Given the description of an element on the screen output the (x, y) to click on. 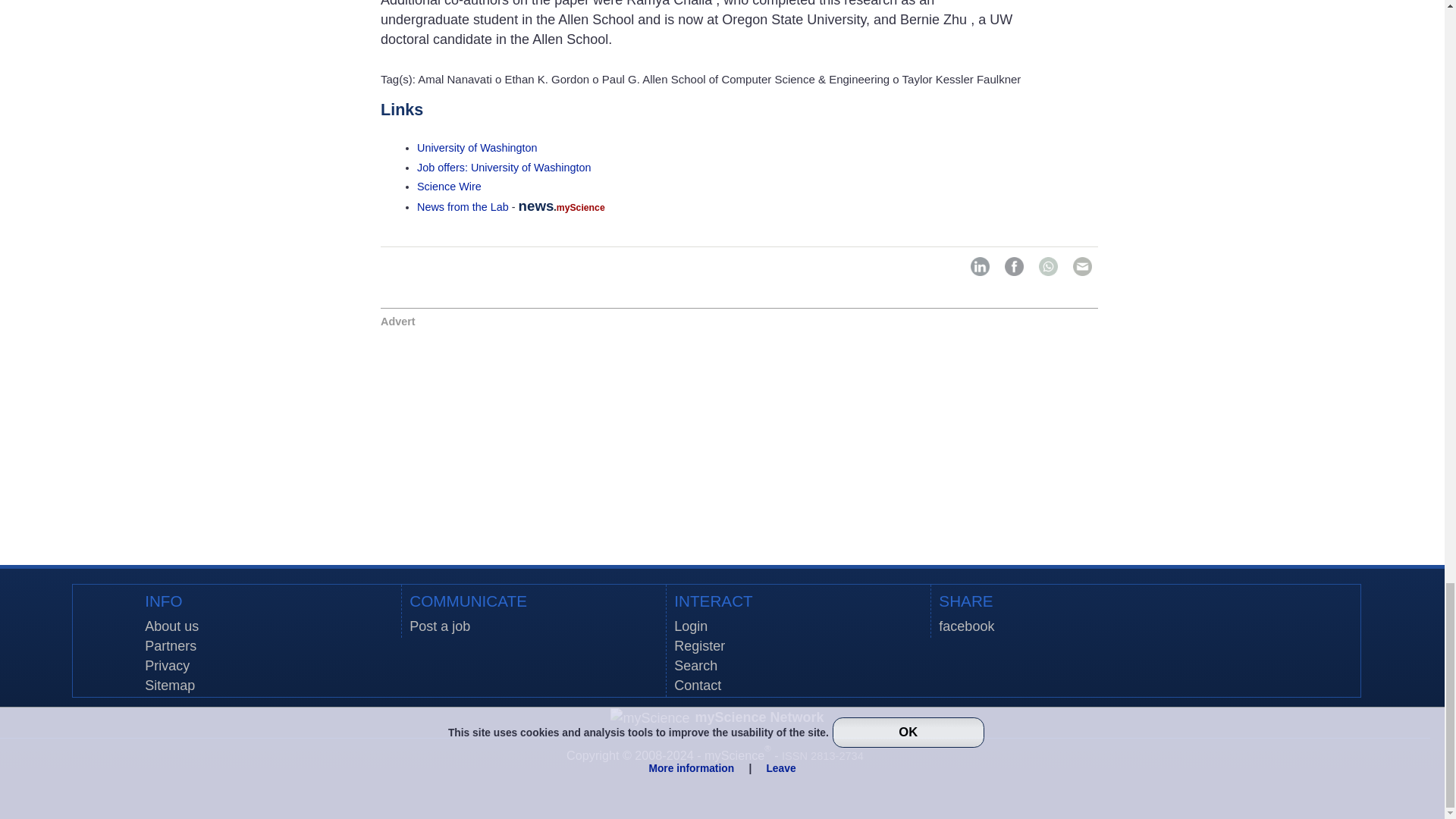
All news and press releases (448, 186)
Share on LinkedIn (980, 266)
News (462, 206)
Send by Email (1082, 266)
Share on WhatsApp Web (1047, 266)
Share on Facebook (1014, 266)
